Given the description of an element on the screen output the (x, y) to click on. 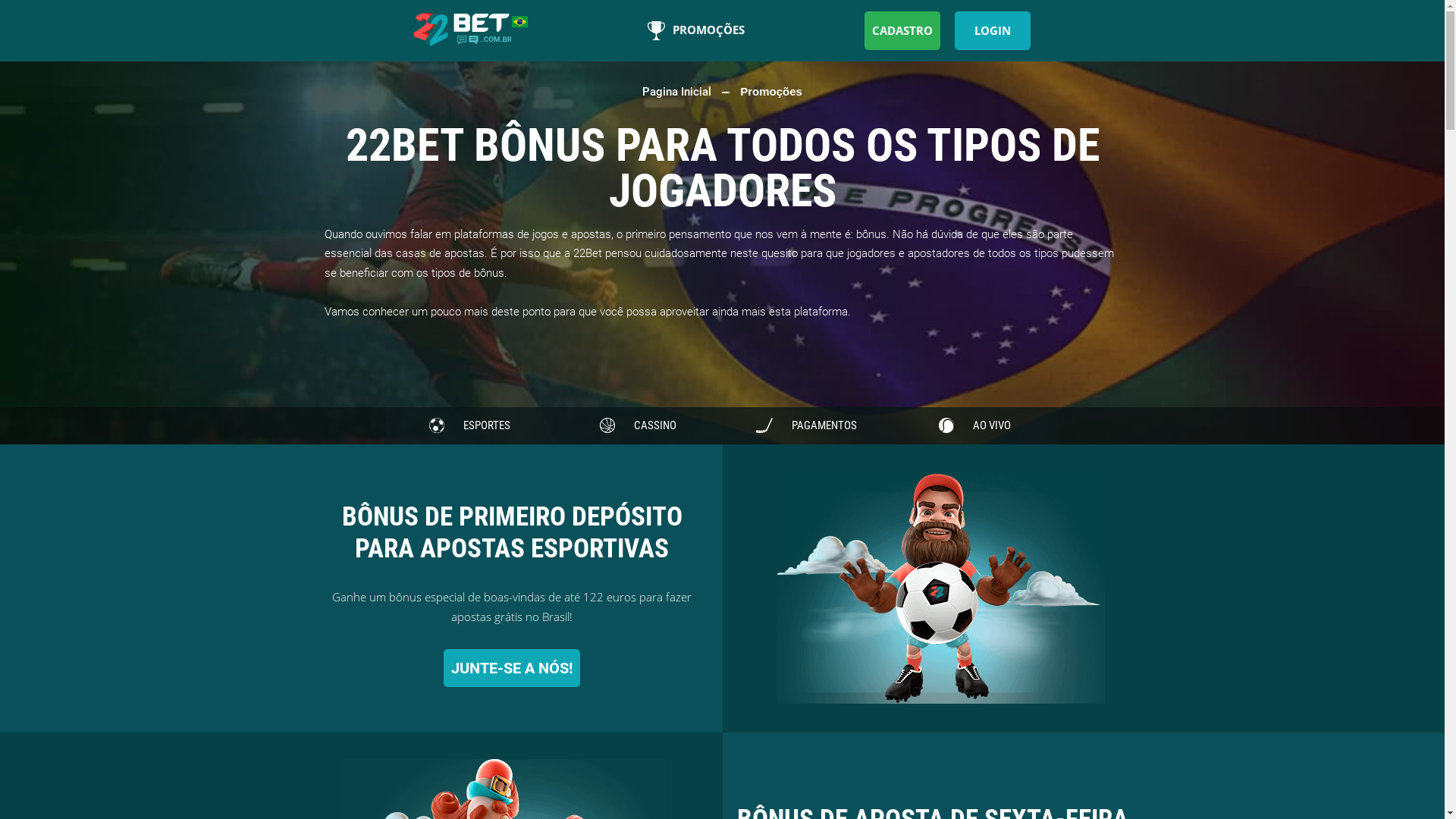
CASSINO Element type: text (637, 426)
LOGIN Element type: text (992, 30)
ESPORTES Element type: text (469, 426)
CADASTRO Element type: text (902, 30)
Logo Element type: hover (470, 29)
AO VIVO Element type: text (974, 426)
Pagina Inicial Element type: text (678, 91)
PAGAMENTOS Element type: text (805, 426)
